Given the description of an element on the screen output the (x, y) to click on. 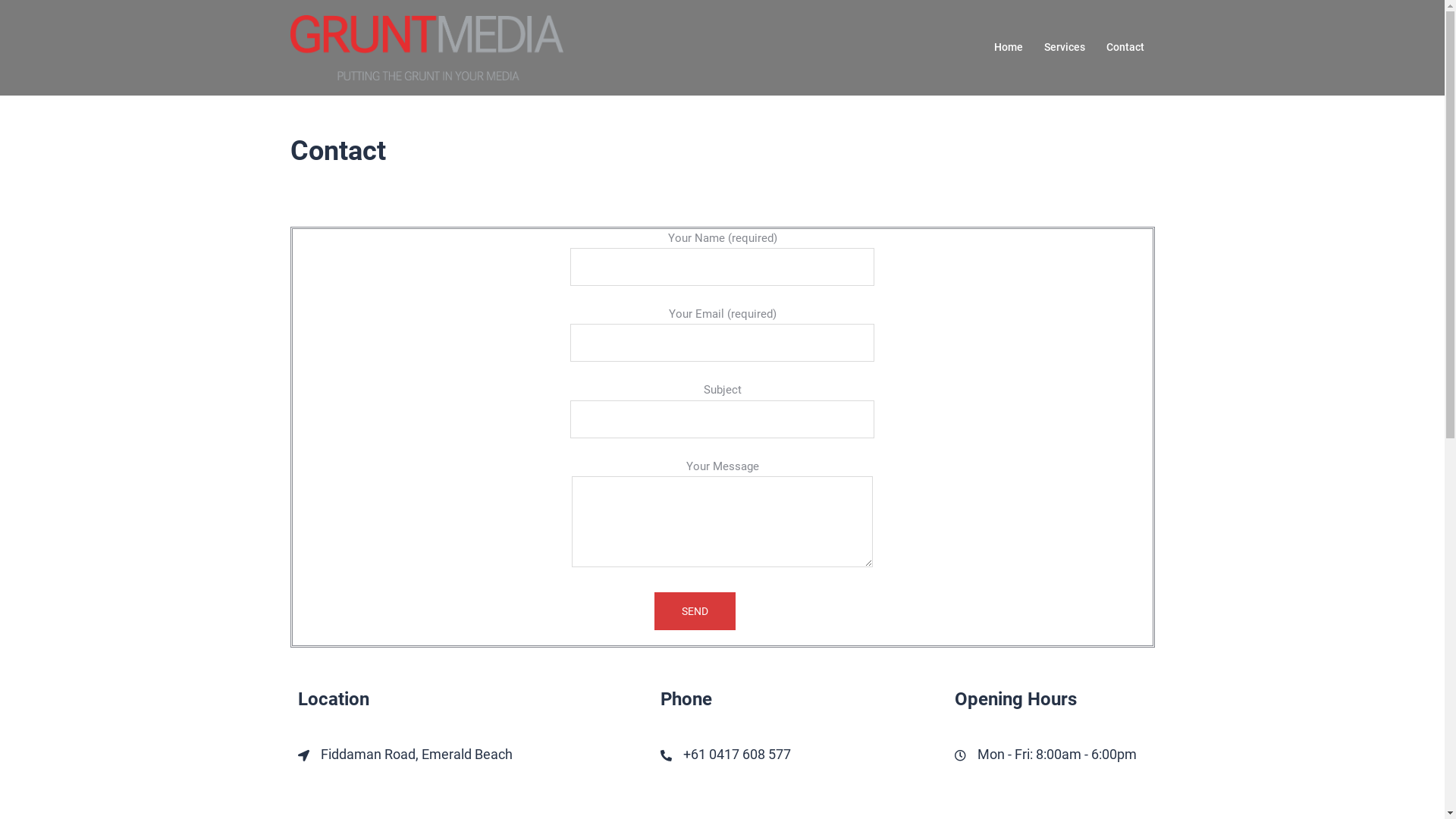
Services Element type: text (1063, 47)
Grunt Media Element type: hover (425, 46)
Contact Element type: text (1124, 47)
Home Element type: text (1007, 47)
Send Element type: text (694, 611)
